Given the description of an element on the screen output the (x, y) to click on. 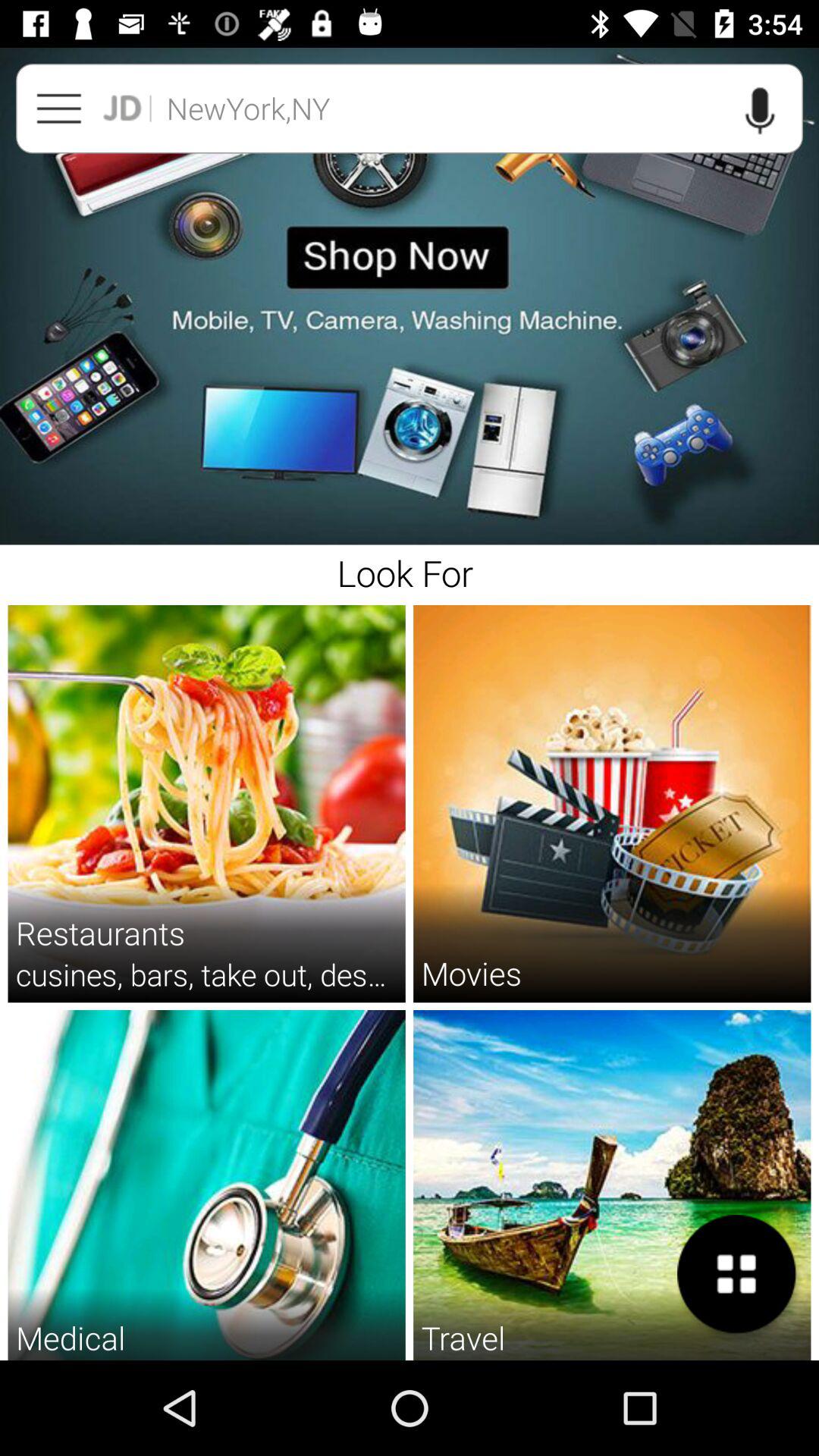
press the item above the cusines bars take item (99, 932)
